Given the description of an element on the screen output the (x, y) to click on. 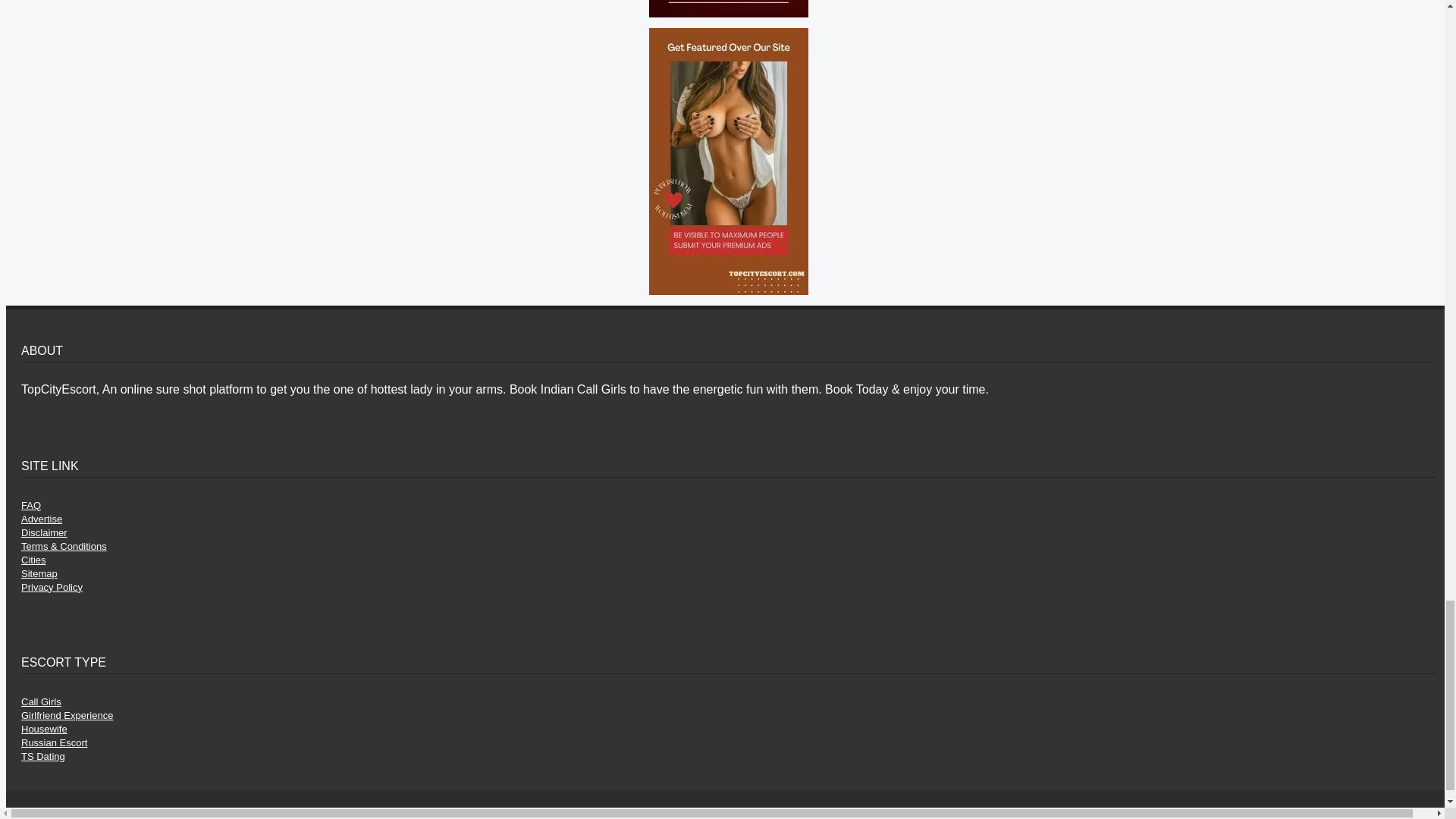
Cities (33, 559)
Housewife (43, 728)
Privacy Policy (51, 586)
Advertise (41, 518)
Girlfriend Experience (67, 715)
Call Girls (41, 701)
FAQ (30, 505)
Sitemap (39, 573)
Russian Escort (54, 742)
Disclaimer (43, 532)
